Given the description of an element on the screen output the (x, y) to click on. 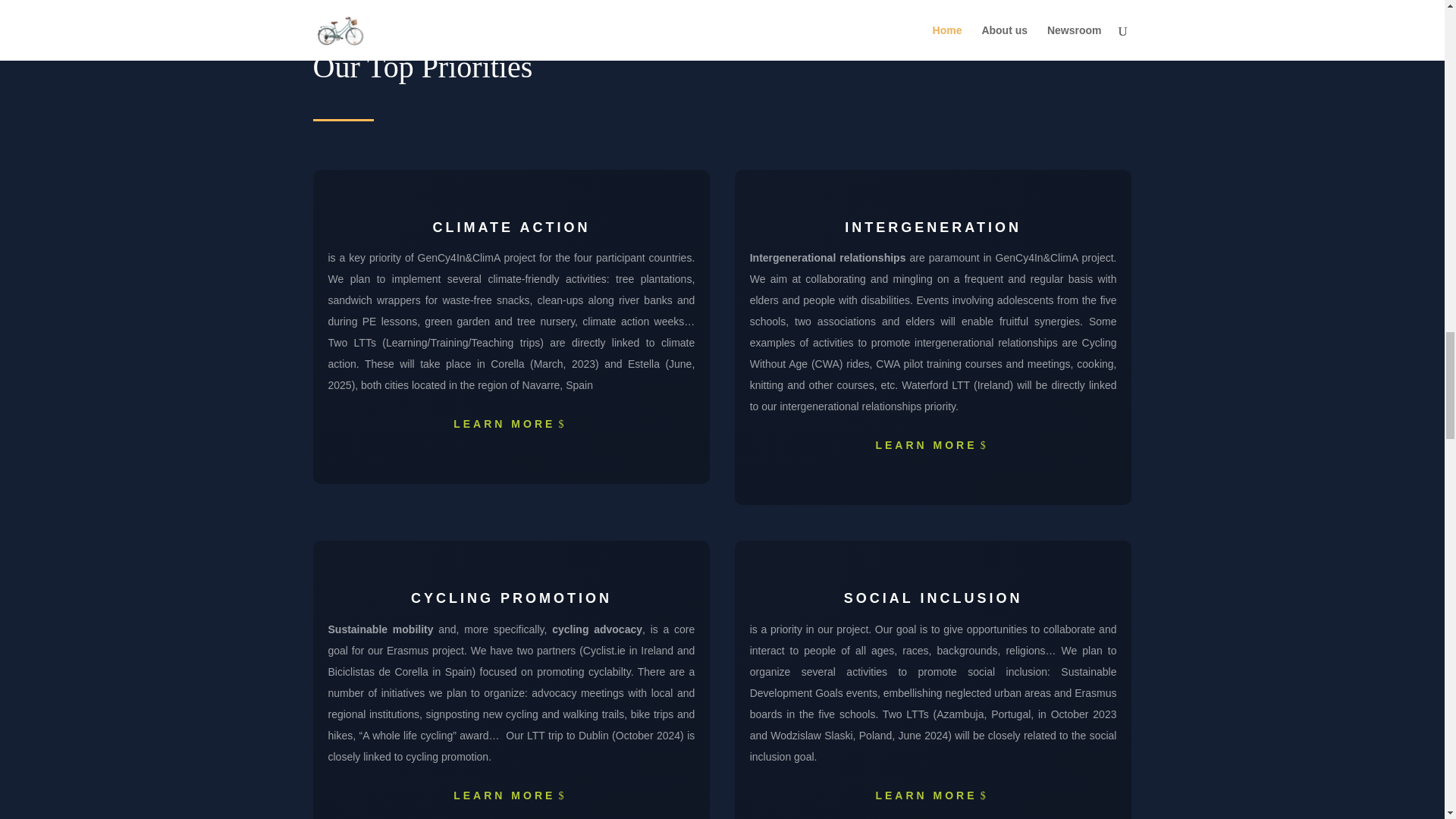
LEARN MORE (511, 789)
LEARN MORE (511, 419)
LEARN MORE (933, 789)
LEARN MORE (933, 440)
